Given the description of an element on the screen output the (x, y) to click on. 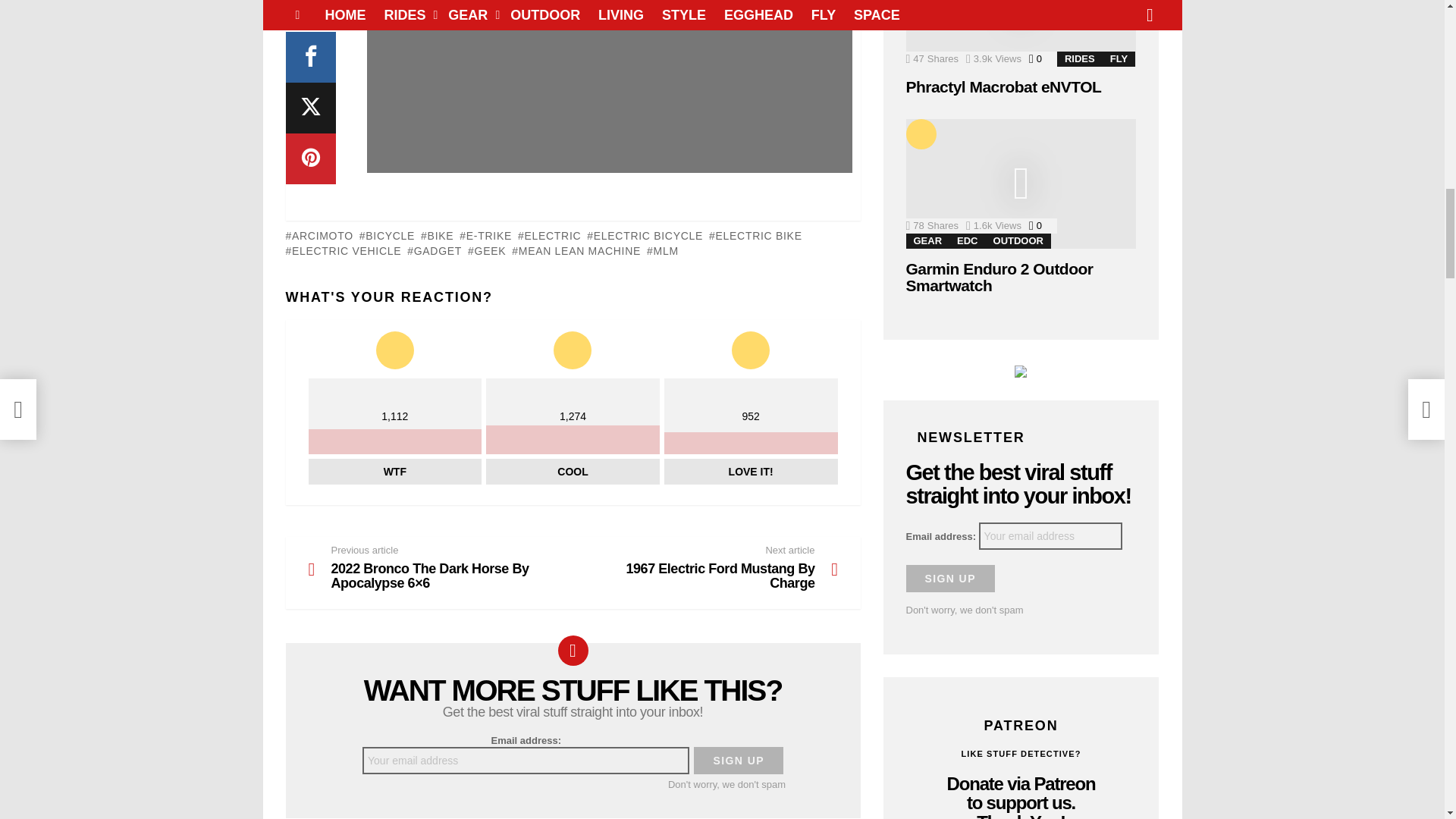
Sign up (949, 578)
Sign up (738, 759)
